Given the description of an element on the screen output the (x, y) to click on. 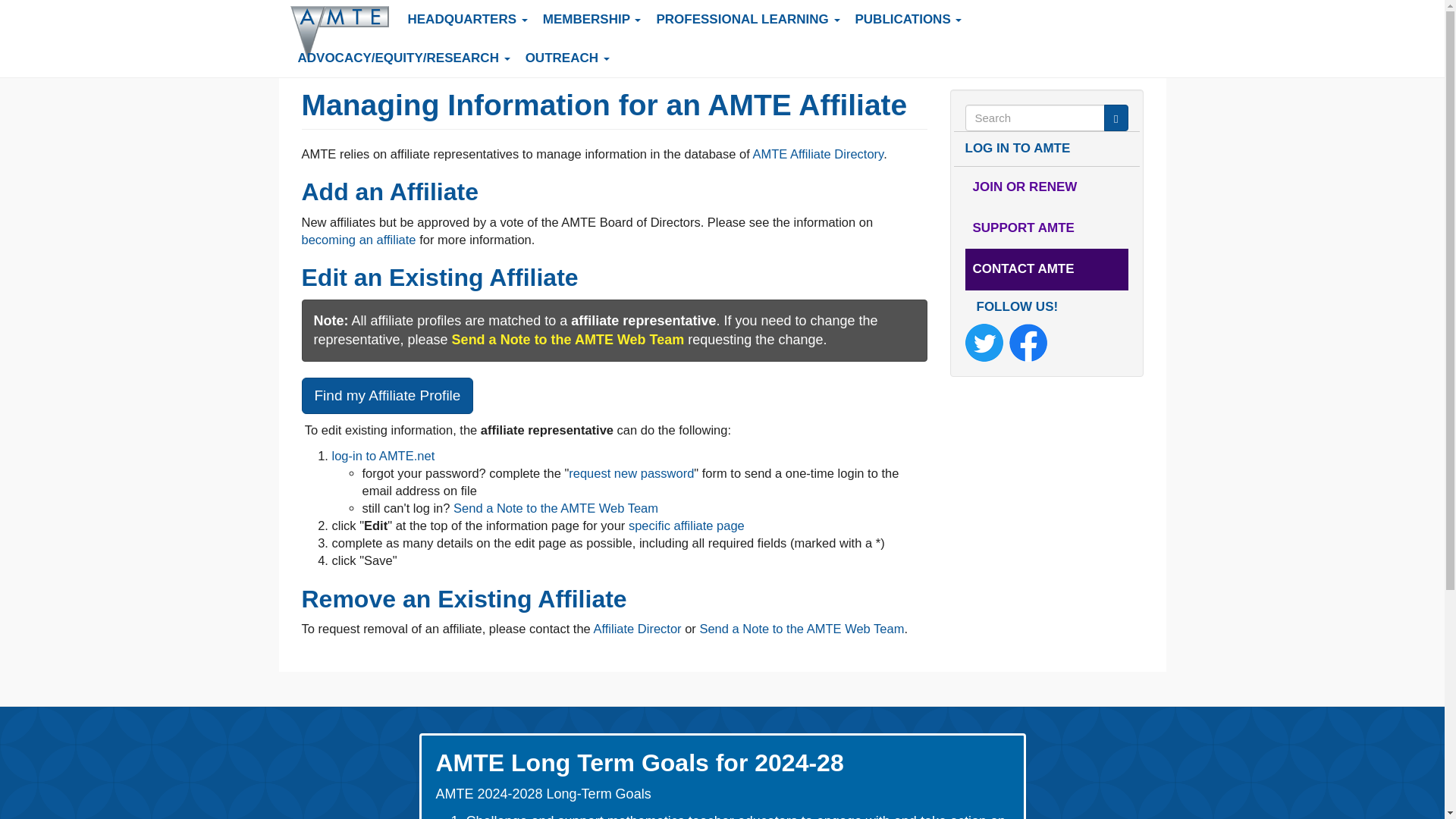
MEMBERSHIP (592, 19)
Home (343, 33)
PROFESSIONAL LEARNING (747, 19)
PUBLICATIONS (908, 19)
Support AMTE (1044, 228)
Enter the terms you wish to search for. (1034, 117)
HEADQUARTERS (467, 19)
Membership Information (1044, 187)
